Given the description of an element on the screen output the (x, y) to click on. 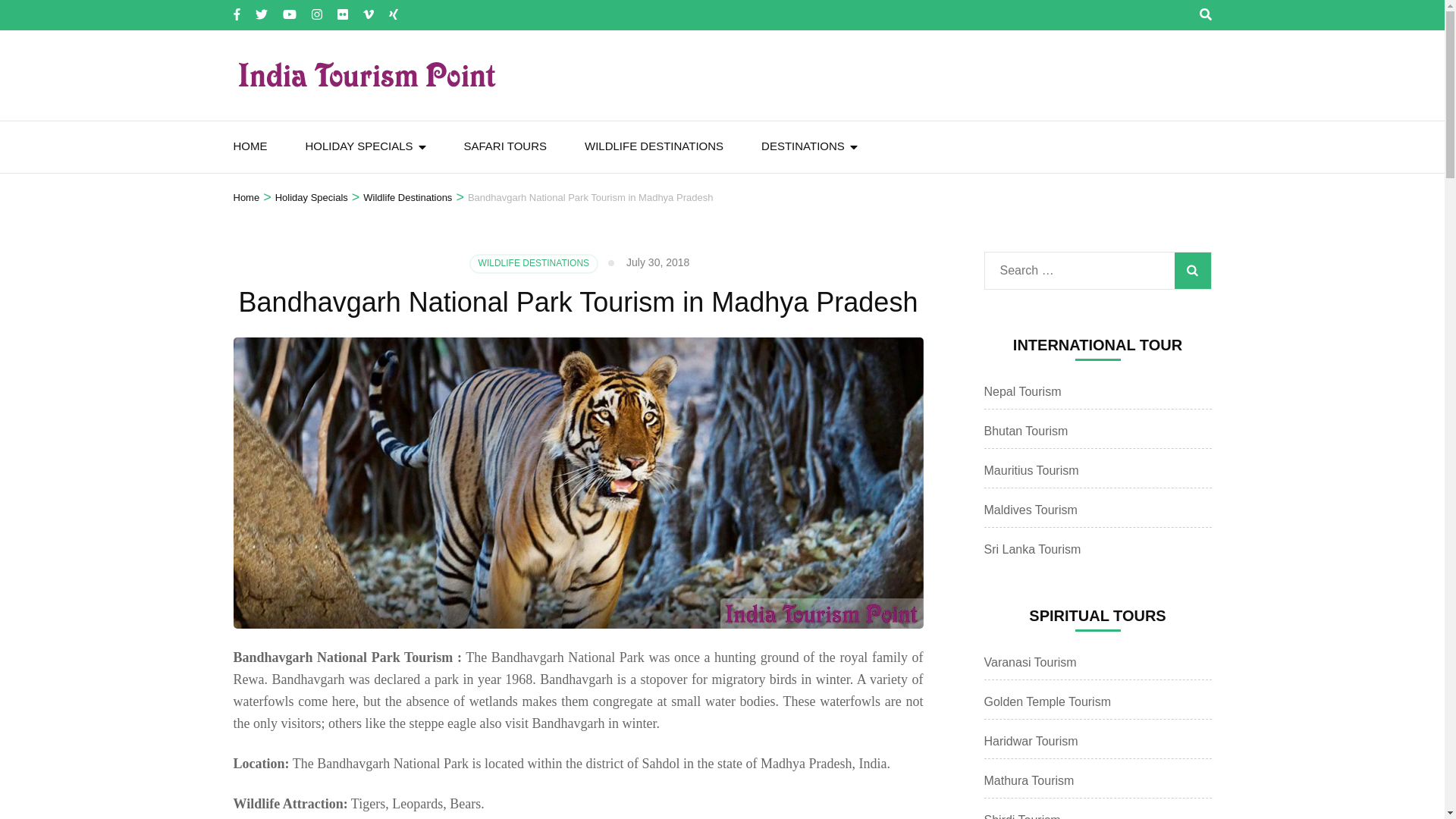
HOLIDAY SPECIALS (358, 146)
Search (1191, 270)
SAFARI TOURS (505, 146)
Search (1191, 270)
WILDLIFE DESTINATIONS (654, 146)
DESTINATIONS (802, 146)
